Given the description of an element on the screen output the (x, y) to click on. 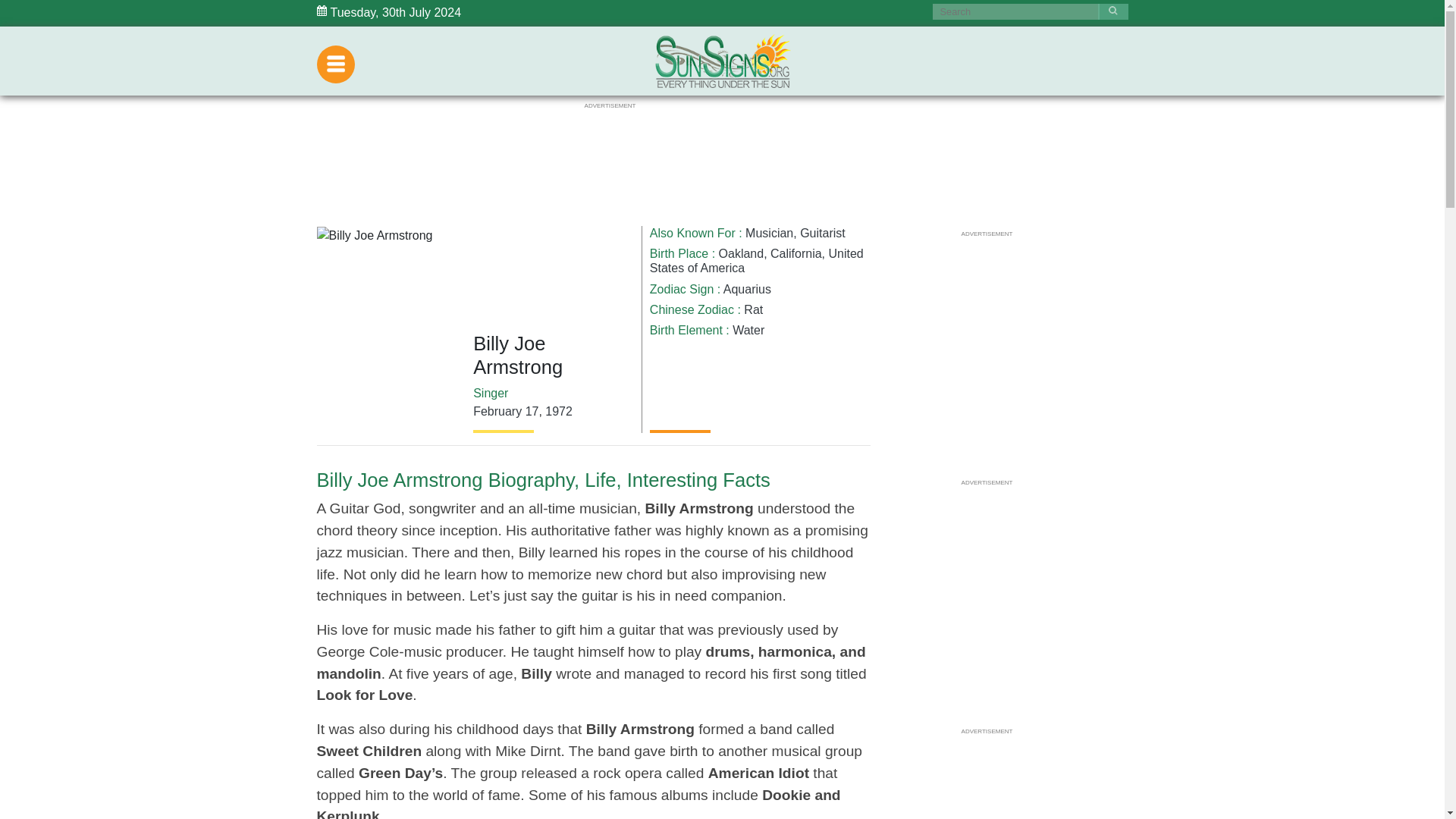
Zodiac Sign (681, 288)
Rat (753, 309)
Guitarist (822, 232)
February 17 (505, 410)
Singer (490, 392)
Oakland (741, 253)
1972 (558, 410)
Chinese Zodiac (691, 309)
United States of America (756, 260)
Aquarius (747, 288)
Musician (769, 232)
California (796, 253)
